Given the description of an element on the screen output the (x, y) to click on. 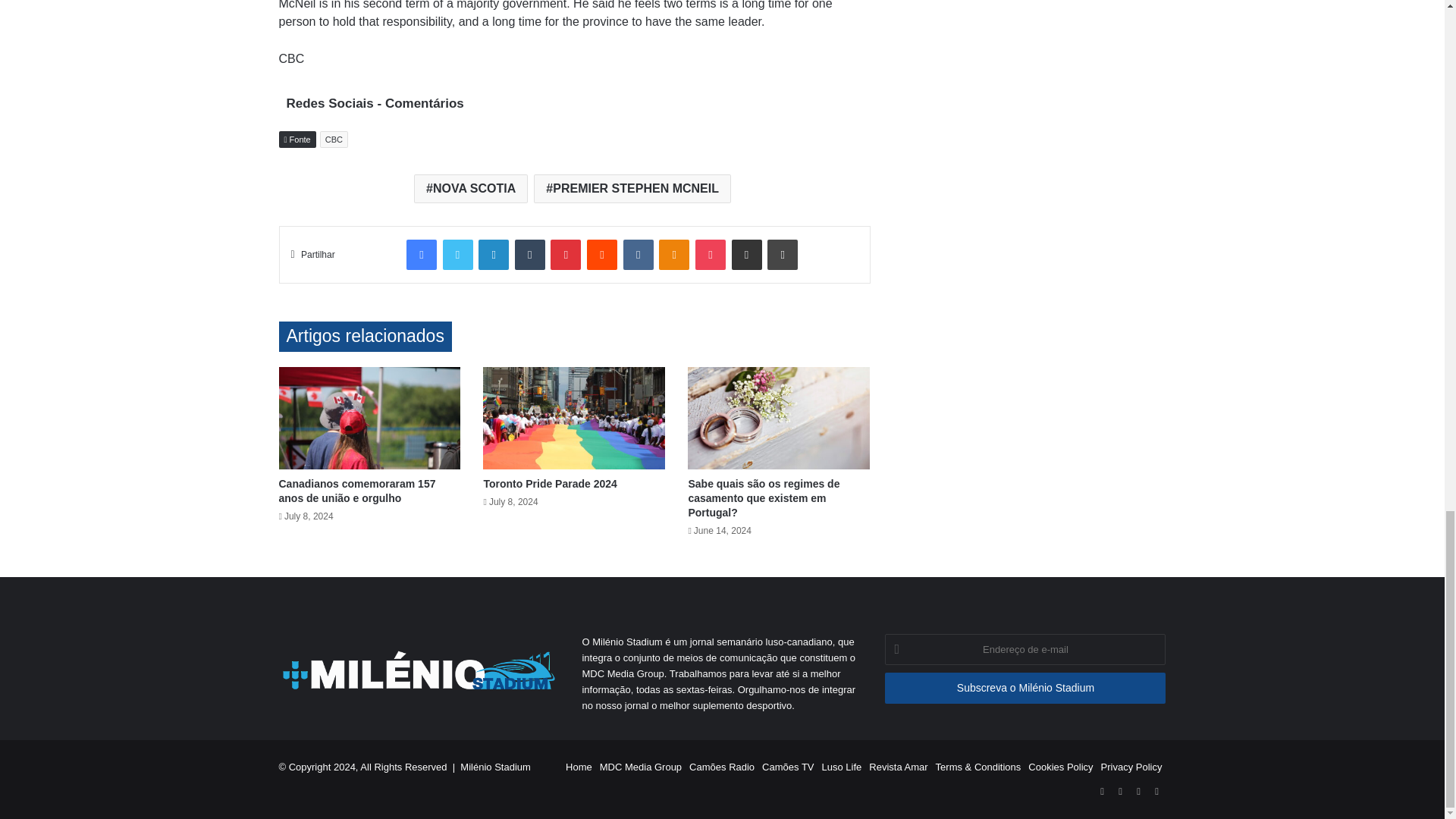
Facebook (421, 254)
Pinterest (565, 254)
LinkedIn (493, 254)
Imprimir (782, 254)
Partilha via e-mail (746, 254)
Odnoklassniki (673, 254)
Reddit (601, 254)
Pocket (710, 254)
VKontakte (638, 254)
Twitter (457, 254)
